Given the description of an element on the screen output the (x, y) to click on. 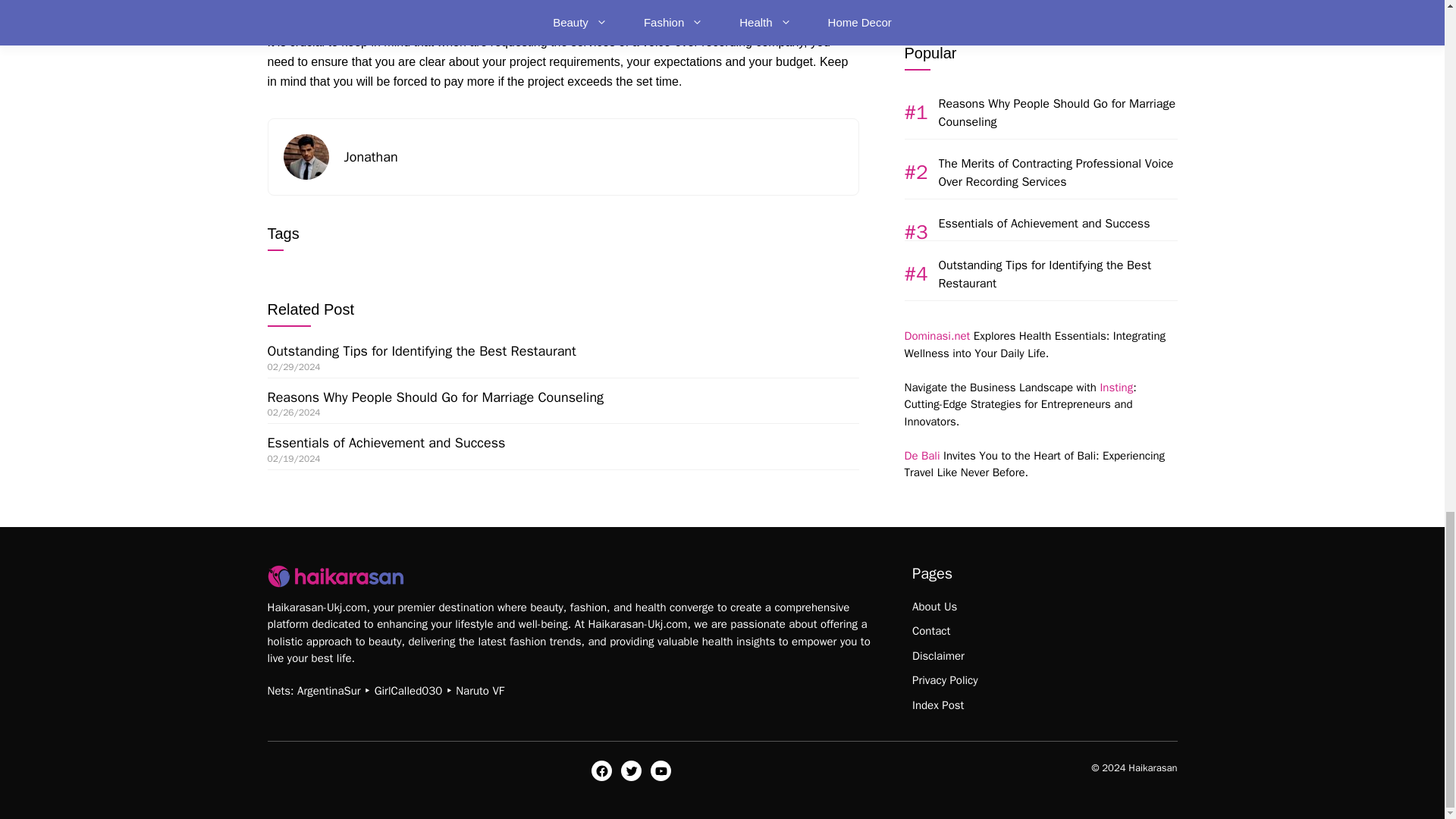
Outstanding Tips for Identifying the Best Restaurant (420, 351)
Jonathan (370, 156)
Essentials of Achievement and Success (385, 442)
Reasons Why People Should Go for Marriage Counseling (435, 397)
HaikaraSanft (334, 576)
